Given the description of an element on the screen output the (x, y) to click on. 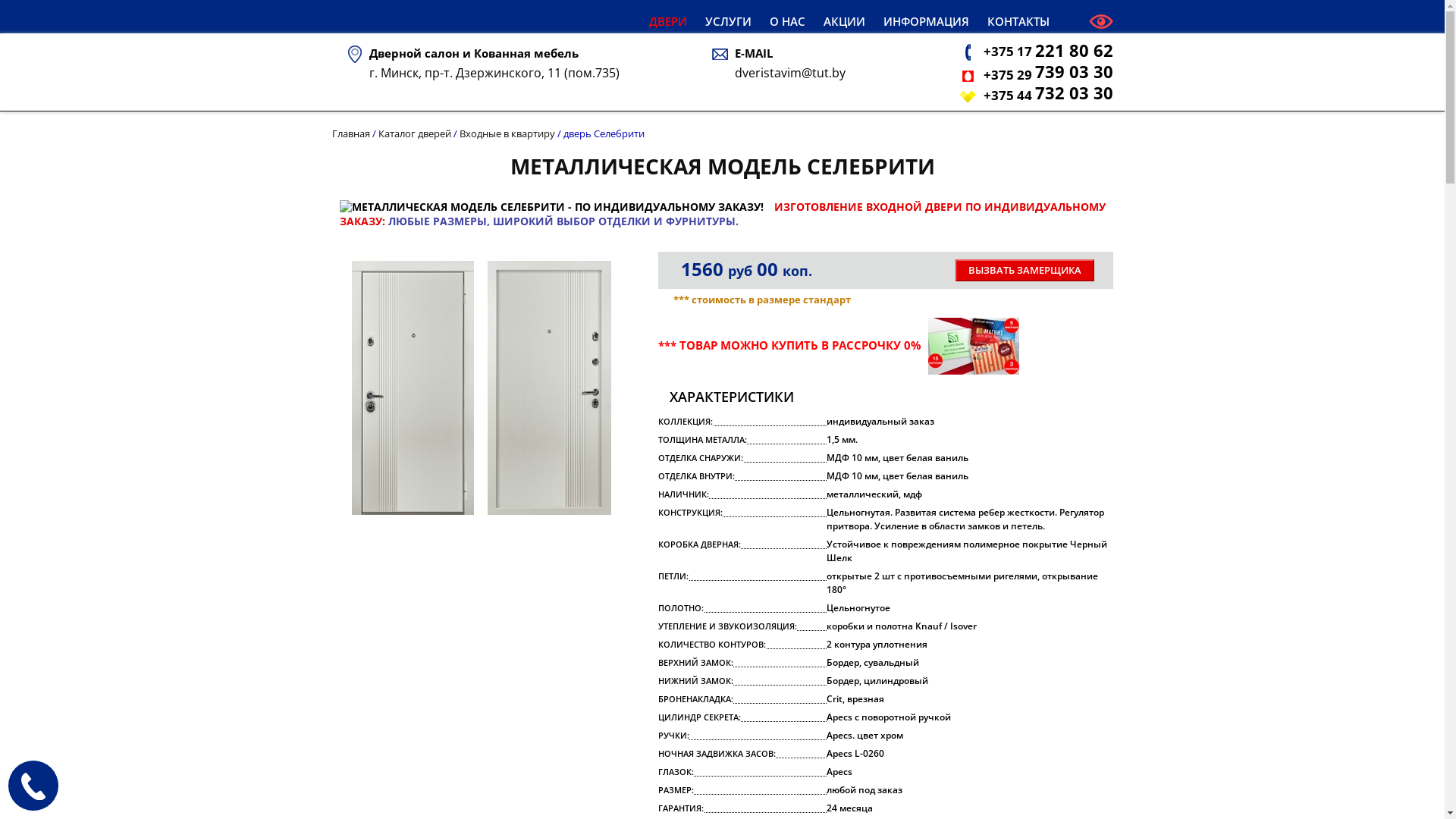
dveristavim@tut.by Element type: text (789, 72)
+375 29 739 03 30 Element type: text (1047, 74)
+375 17 221 80 62 Element type: text (1047, 50)
+375 44 732 03 30 Element type: text (1047, 94)
